Given the description of an element on the screen output the (x, y) to click on. 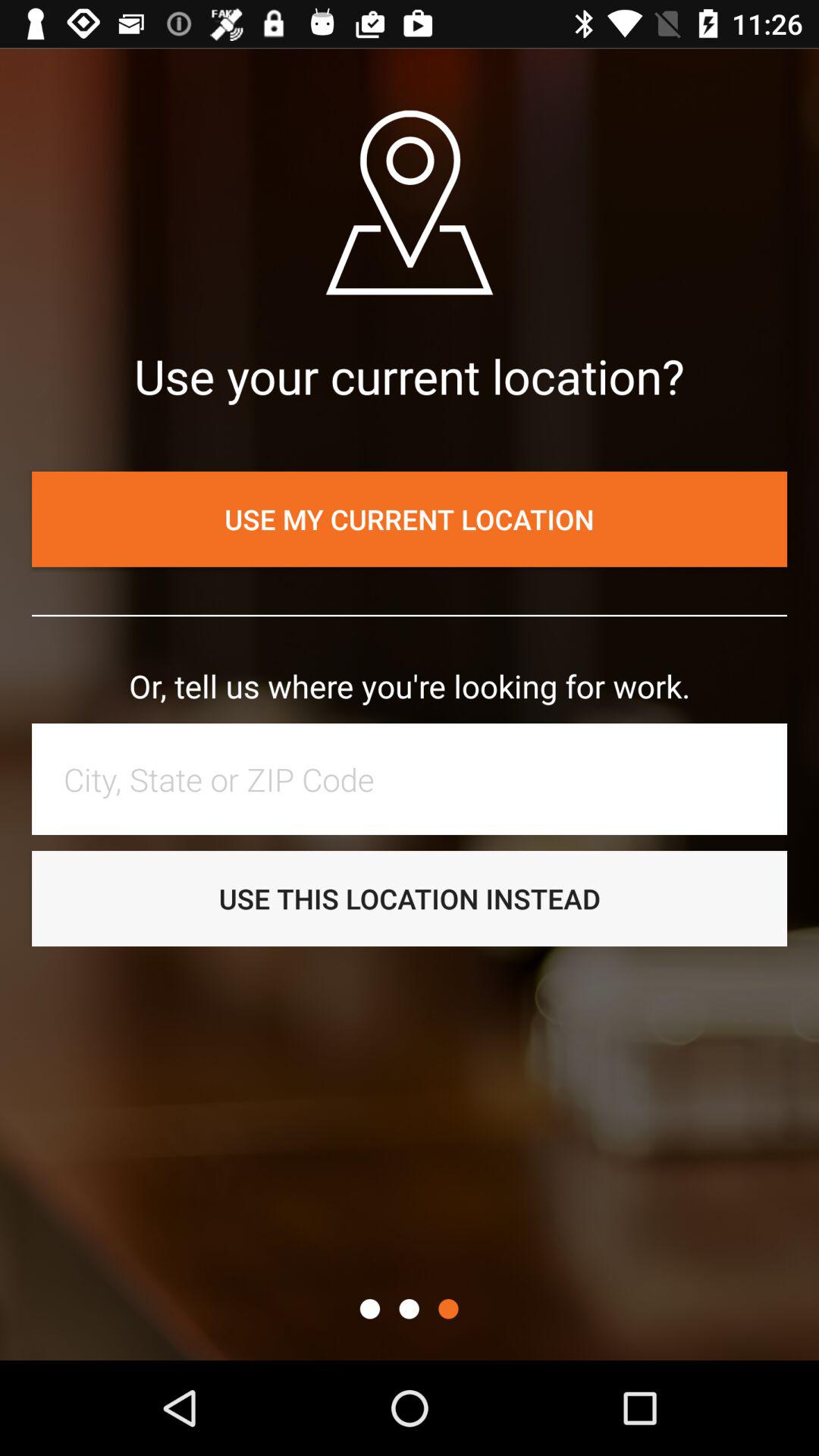
advance page (448, 1308)
